Given the description of an element on the screen output the (x, y) to click on. 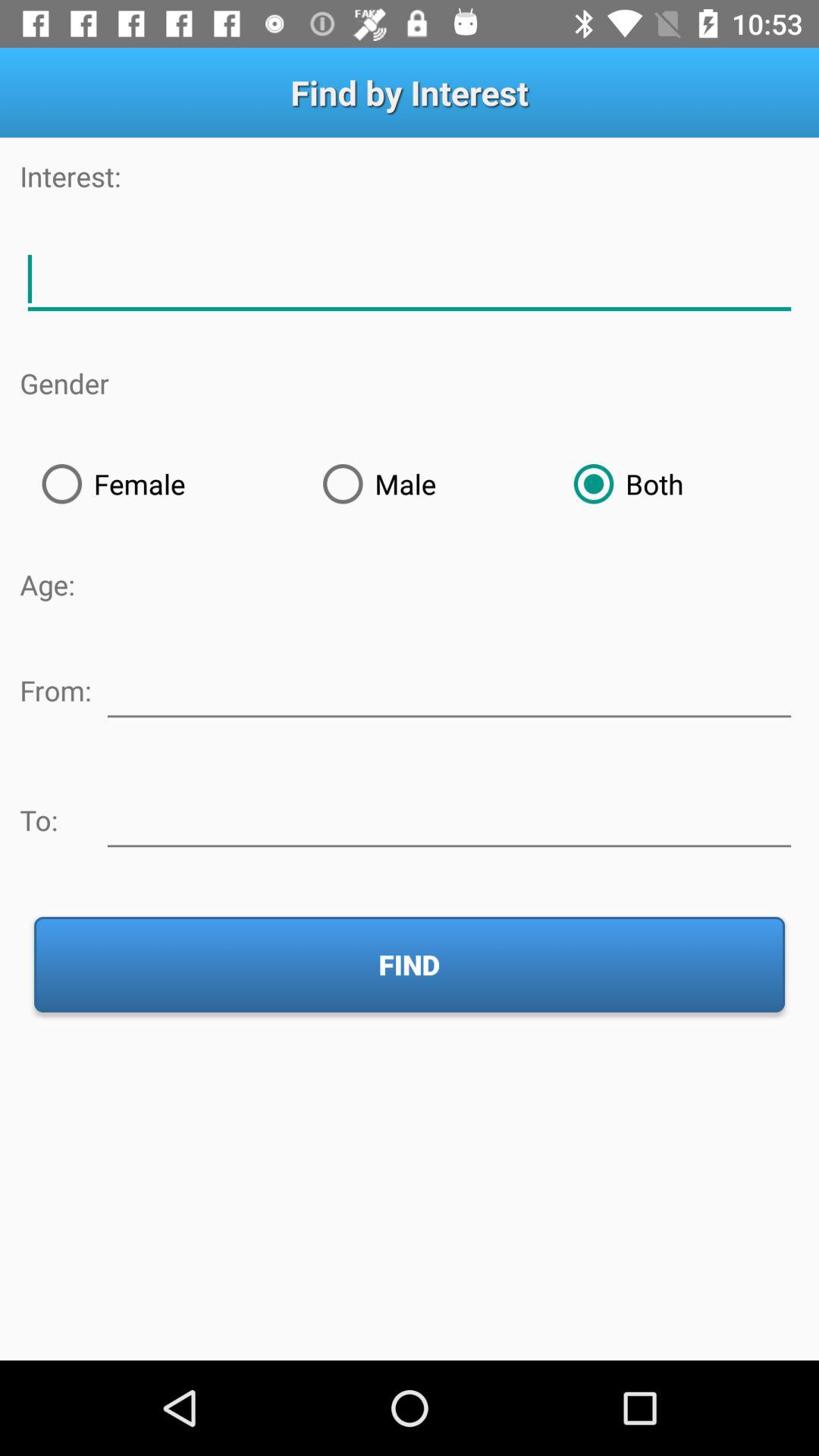
swipe to both item (674, 483)
